Given the description of an element on the screen output the (x, y) to click on. 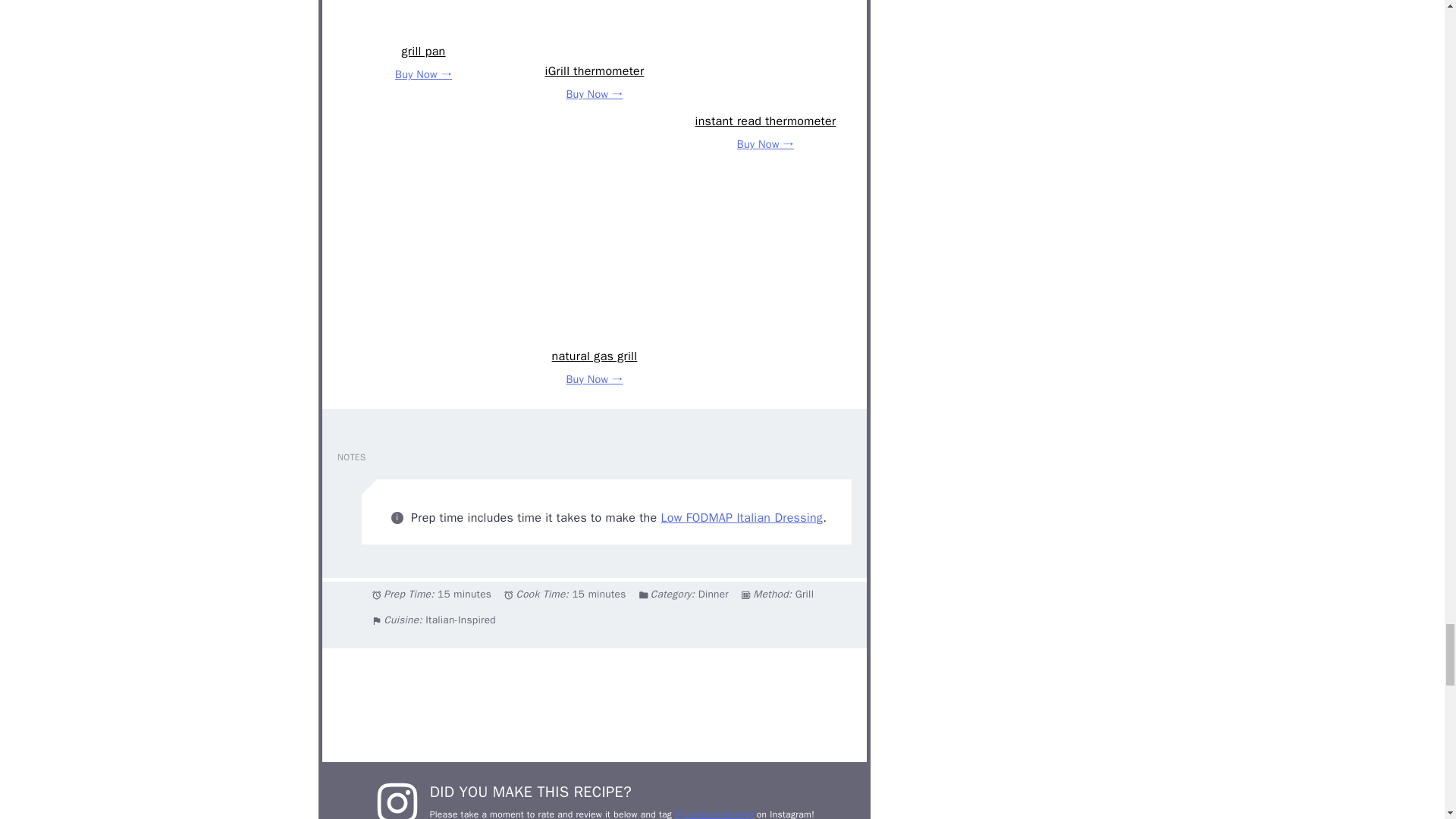
nutritional information (593, 705)
